Given the description of an element on the screen output the (x, y) to click on. 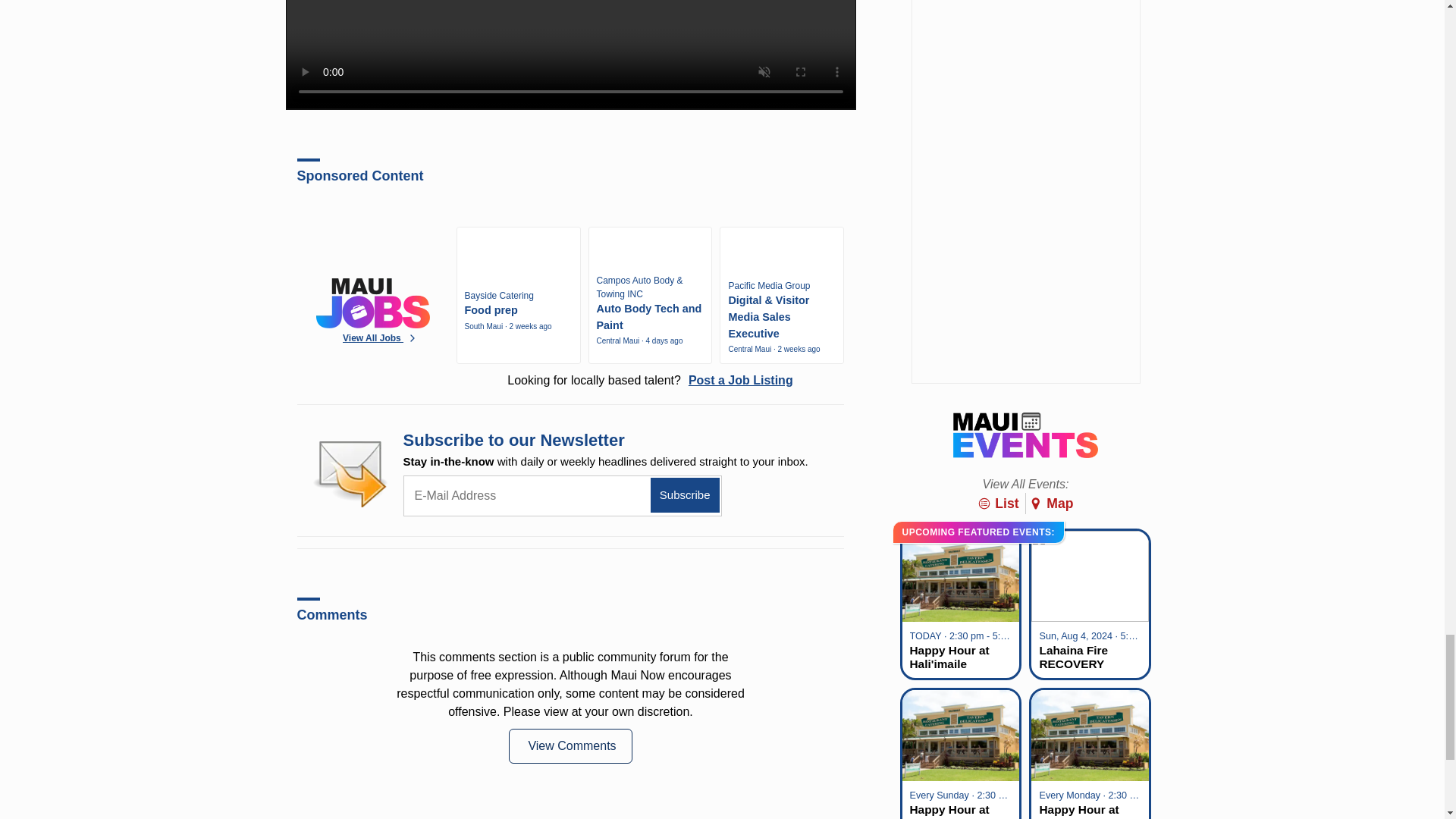
List Circle (983, 503)
Chevron Forward (412, 337)
Subscribe (684, 495)
